Given the description of an element on the screen output the (x, y) to click on. 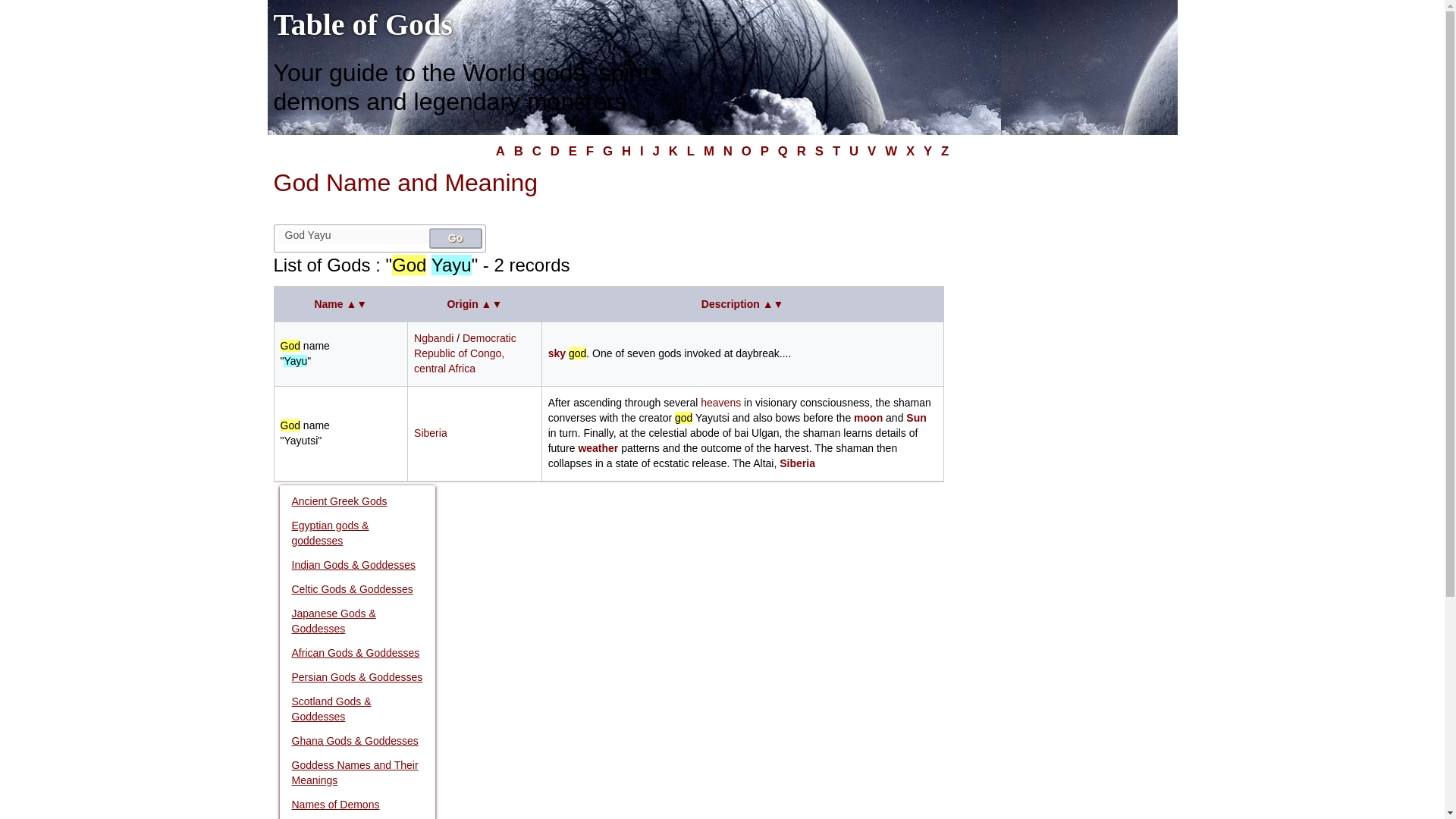
Table of Gods (362, 24)
God Yayu (353, 235)
heaven (720, 402)
